Given the description of an element on the screen output the (x, y) to click on. 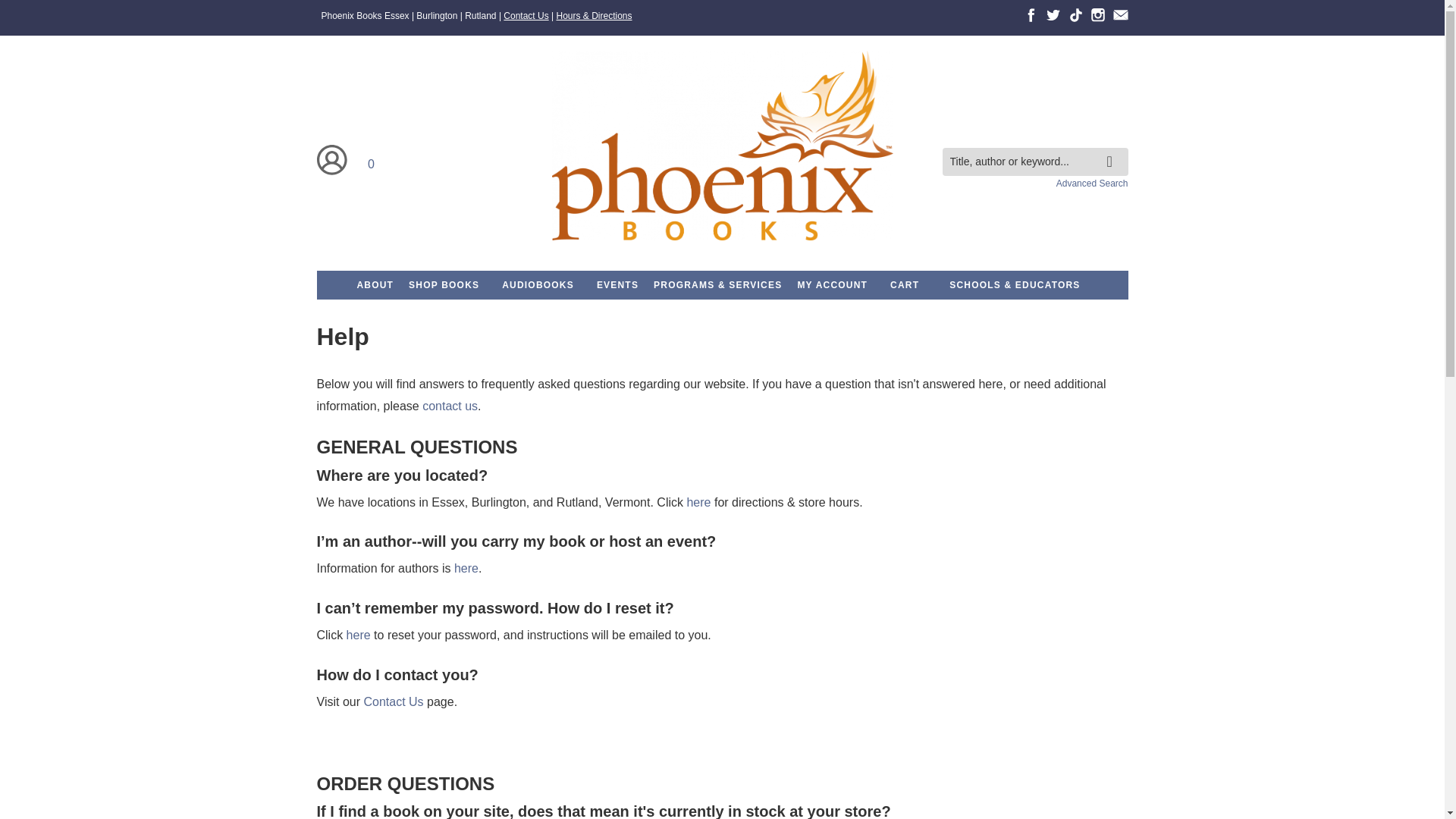
AUDIOBOOKS (537, 285)
CART (904, 285)
Advanced Search (1092, 183)
MY ACCOUNT (832, 285)
ABOUT (375, 285)
Title, author or keyword... (1034, 162)
Digital Audio with Libro.fm (537, 285)
search (1112, 149)
EVENTS (617, 285)
search (1112, 149)
Books (443, 285)
contact us (449, 405)
About Phoenix Books (375, 285)
Events at Phoenix Books (617, 285)
